Given the description of an element on the screen output the (x, y) to click on. 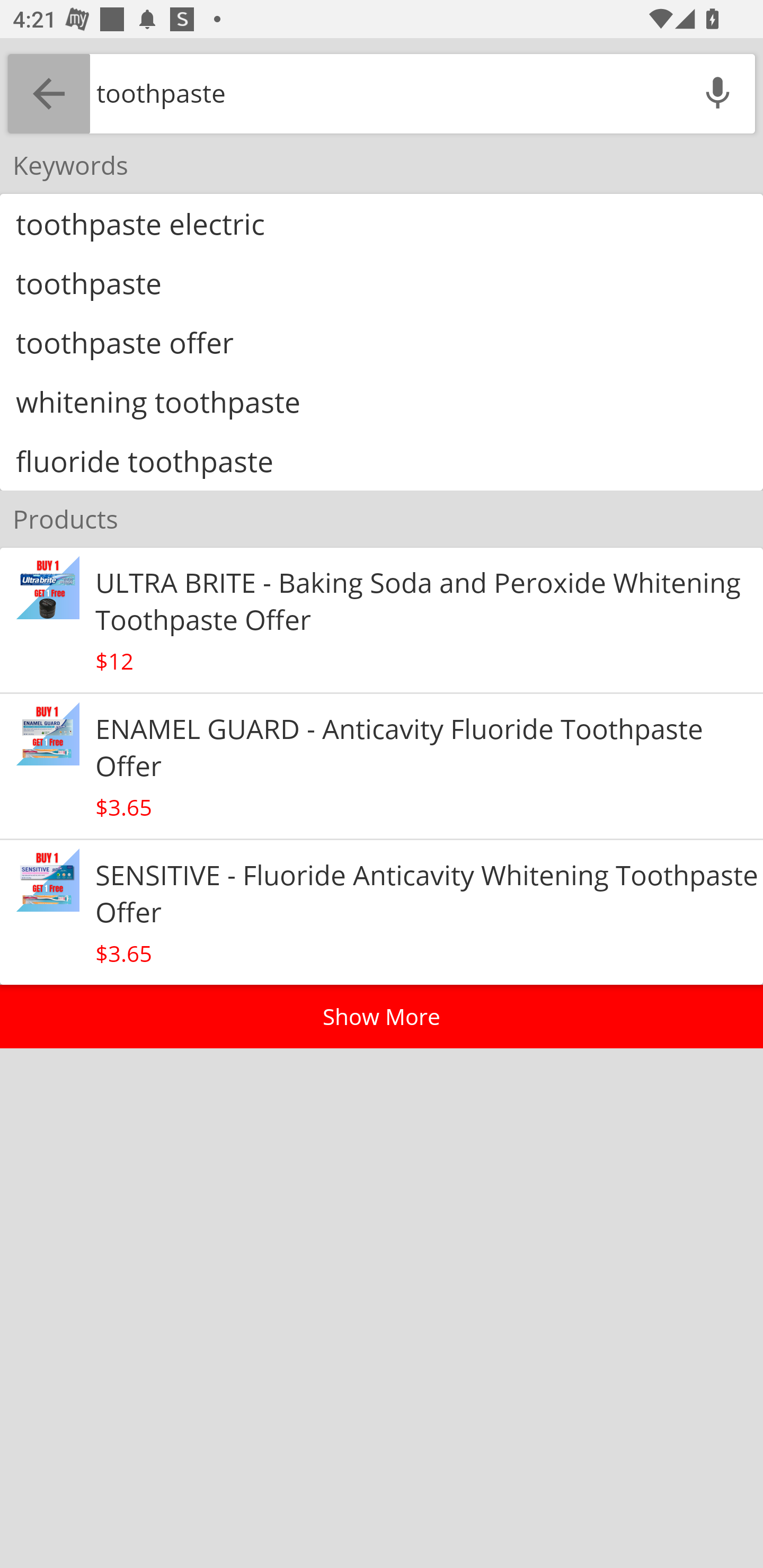
toothpaste (385, 93)
toothpaste electric (381, 223)
toothpaste (381, 282)
toothpaste offer (381, 341)
whitening toothpaste (381, 401)
fluoride toothpaste (381, 460)
Show More (381, 1016)
